Given the description of an element on the screen output the (x, y) to click on. 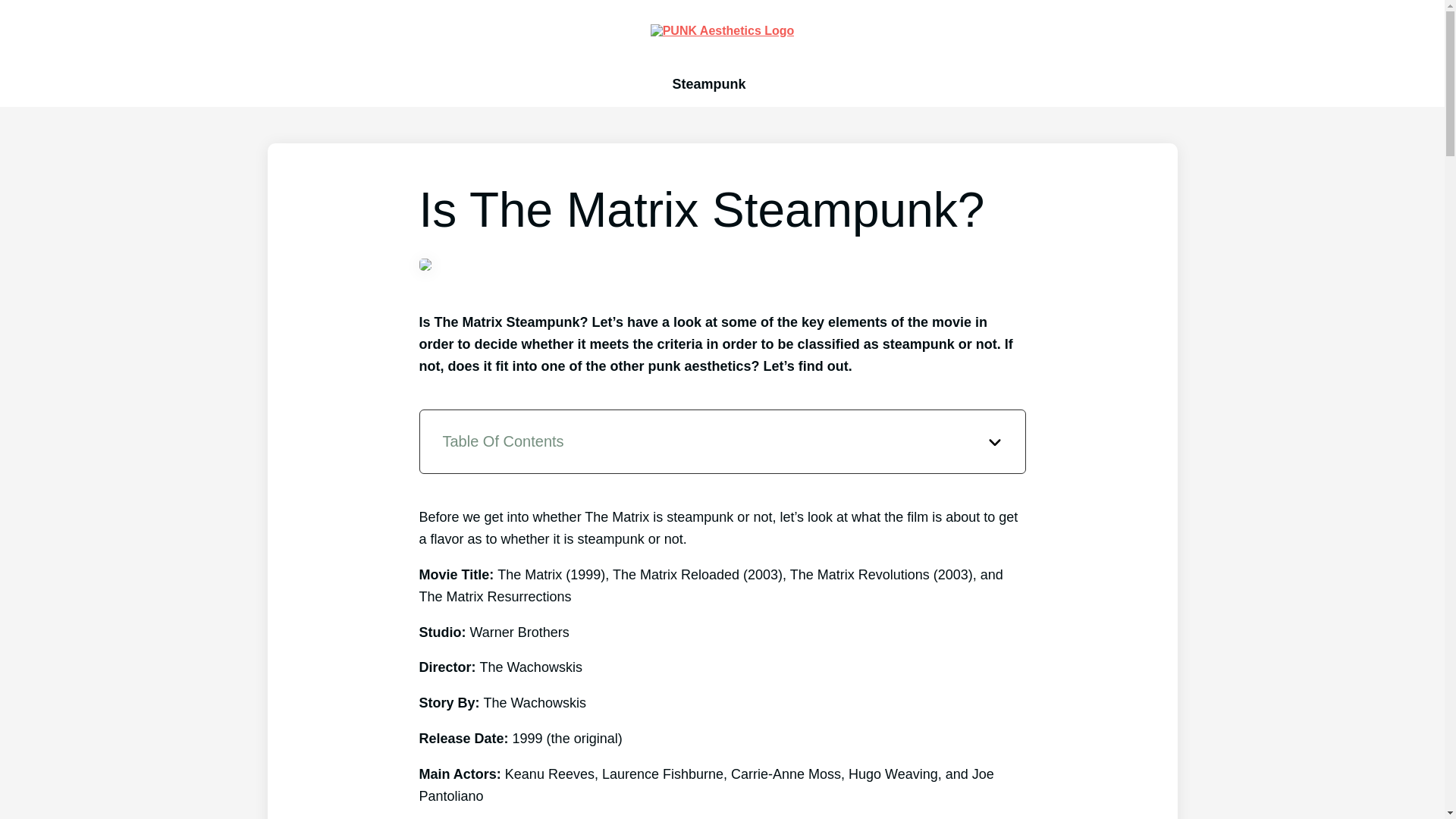
Steampunk (708, 83)
Search for: (771, 84)
